Given the description of an element on the screen output the (x, y) to click on. 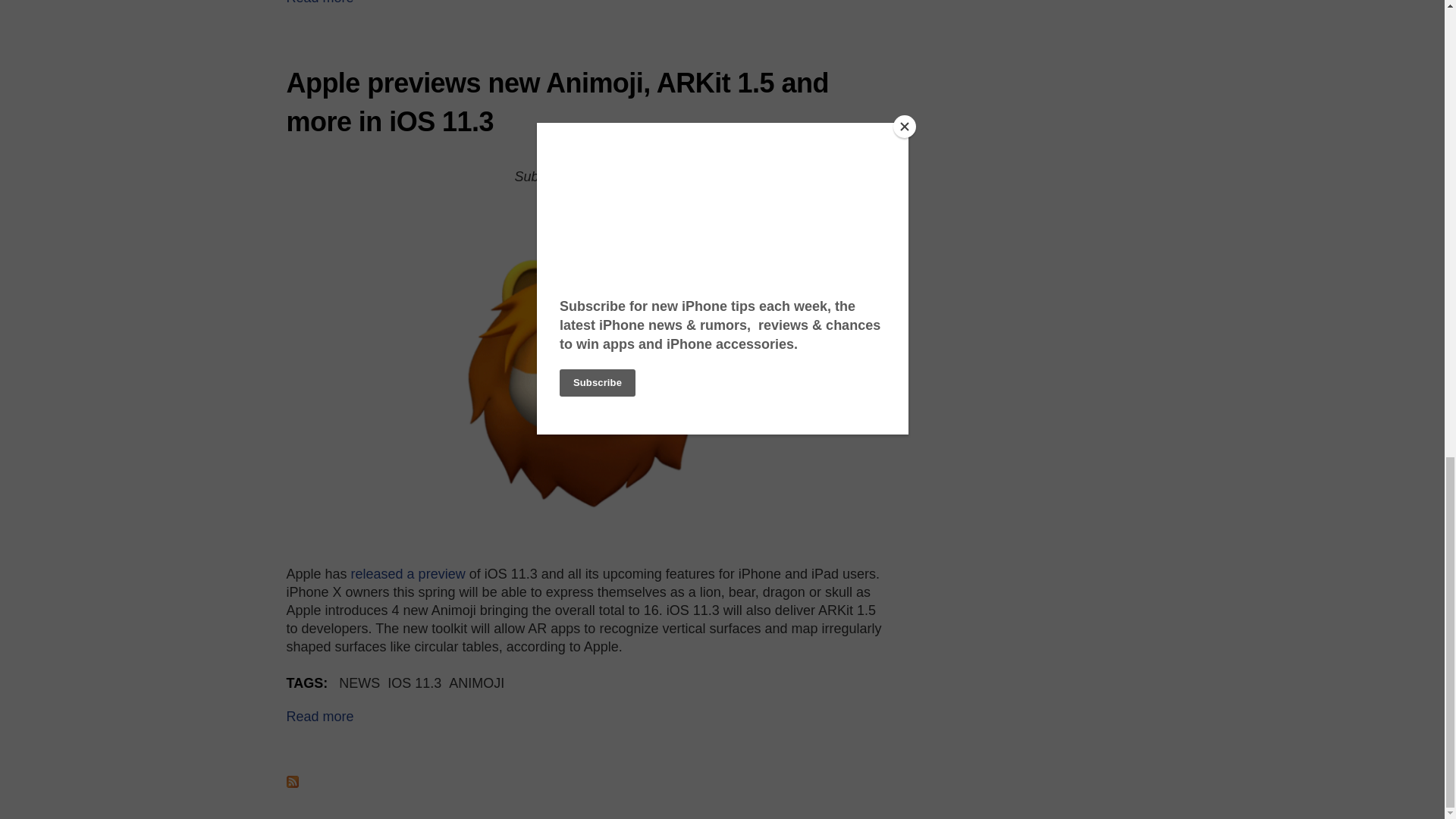
NEWS (359, 683)
Apple previews new Animoji, ARKit 1.5 and more in iOS 11.3 (557, 101)
IOS 11.3 (414, 683)
Apple previews new Animoji, ARKit 1.5 and more in iOS 11.3 (319, 716)
released a preview (407, 573)
ANIMOJI (475, 683)
3rd party ad content (1062, 56)
How to fix iPhone 7 microphone not working on iOS 11.3 (319, 2)
